Given the description of an element on the screen output the (x, y) to click on. 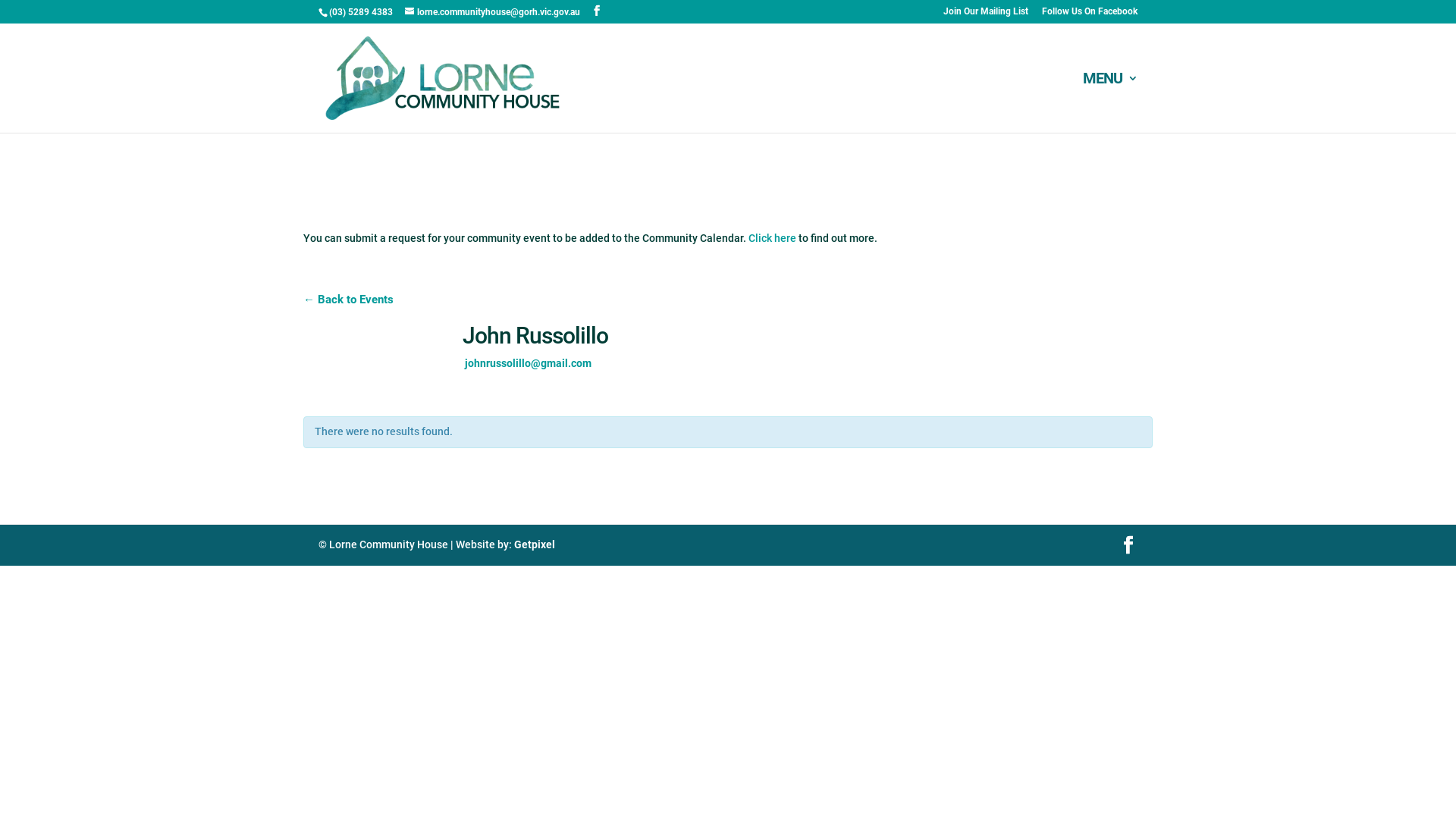
Click here Element type: text (772, 238)
MENU Element type: text (1109, 102)
Getpixel Element type: text (534, 544)
(03) 5289 4383 Element type: text (360, 11)
lorne.communityhouse@gorh.vic.gov.au Element type: text (492, 11)
Follow Us On Facebook Element type: text (1089, 14)
johnrussolillo@gmail.com Element type: text (527, 363)
Join Our Mailing List Element type: text (985, 14)
